Given the description of an element on the screen output the (x, y) to click on. 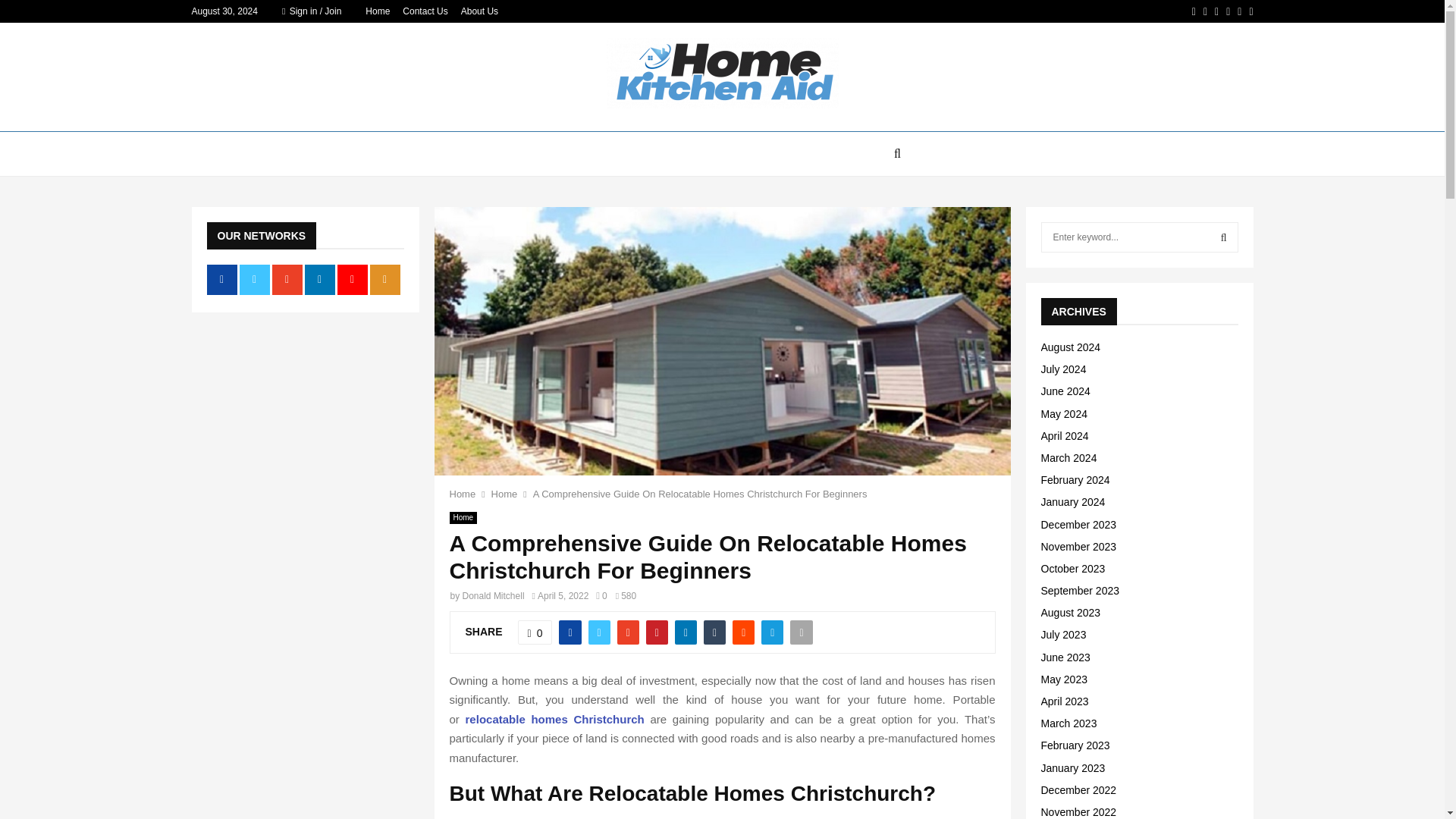
Home (462, 517)
About Us (479, 11)
Sign up new account (722, 527)
RENOVATION (575, 153)
0 (535, 631)
Donald Mitchell (493, 595)
Home (505, 493)
GARDENING (779, 153)
Login to your account (722, 293)
